Given the description of an element on the screen output the (x, y) to click on. 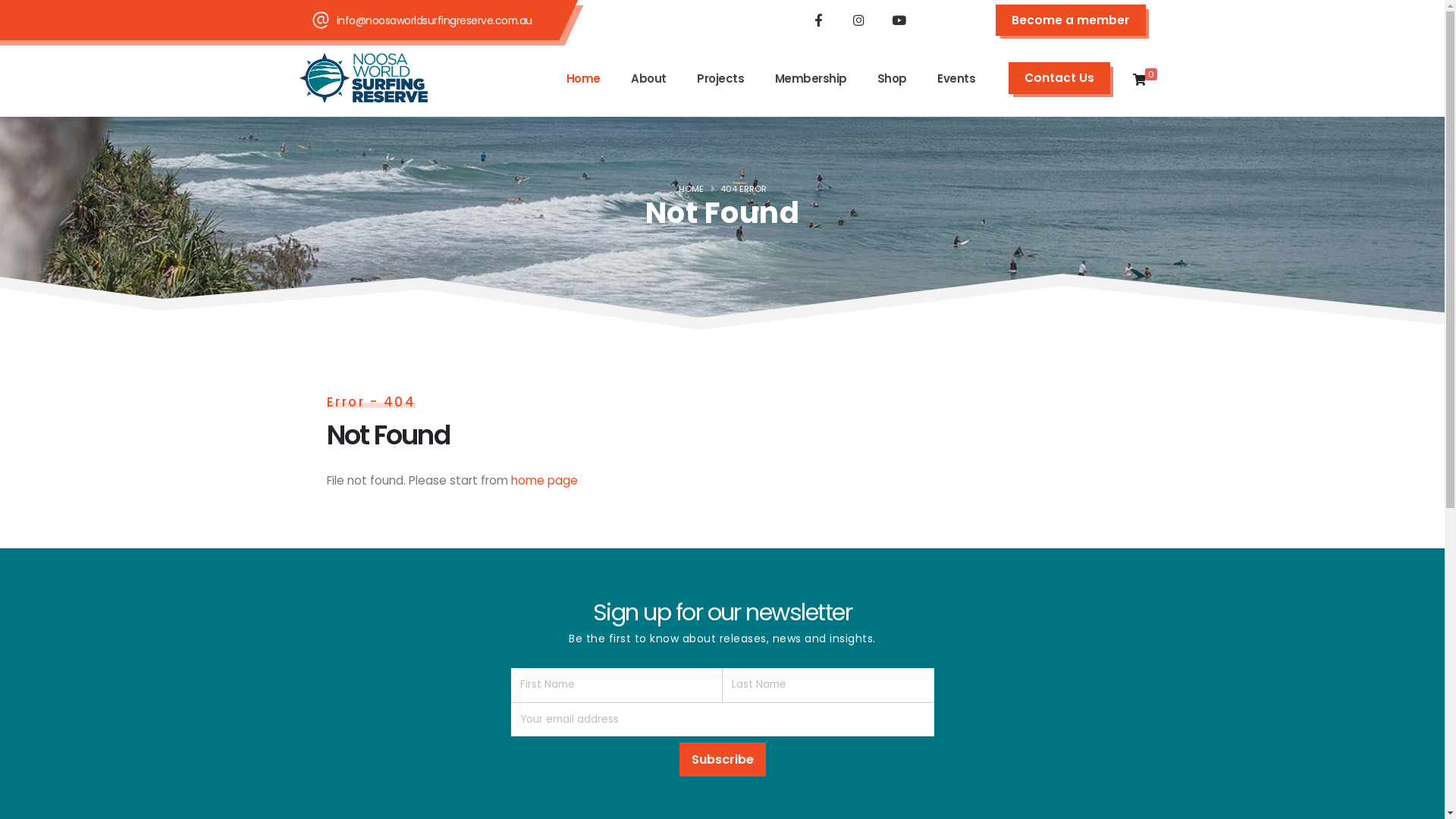
Membership Element type: text (809, 78)
HOME Element type: text (689, 188)
Become a member Element type: text (1069, 19)
About Element type: text (648, 78)
home page Element type: text (544, 480)
Shop Element type: text (891, 78)
0 Element type: text (1138, 77)
Events Element type: text (955, 78)
Projects Element type: text (720, 78)
Contact Us Element type: text (1059, 77)
Subscribe Element type: text (722, 759)
info@noosaworldsurfingreserve.com.au Element type: text (434, 20)
Home Element type: text (583, 78)
